Given the description of an element on the screen output the (x, y) to click on. 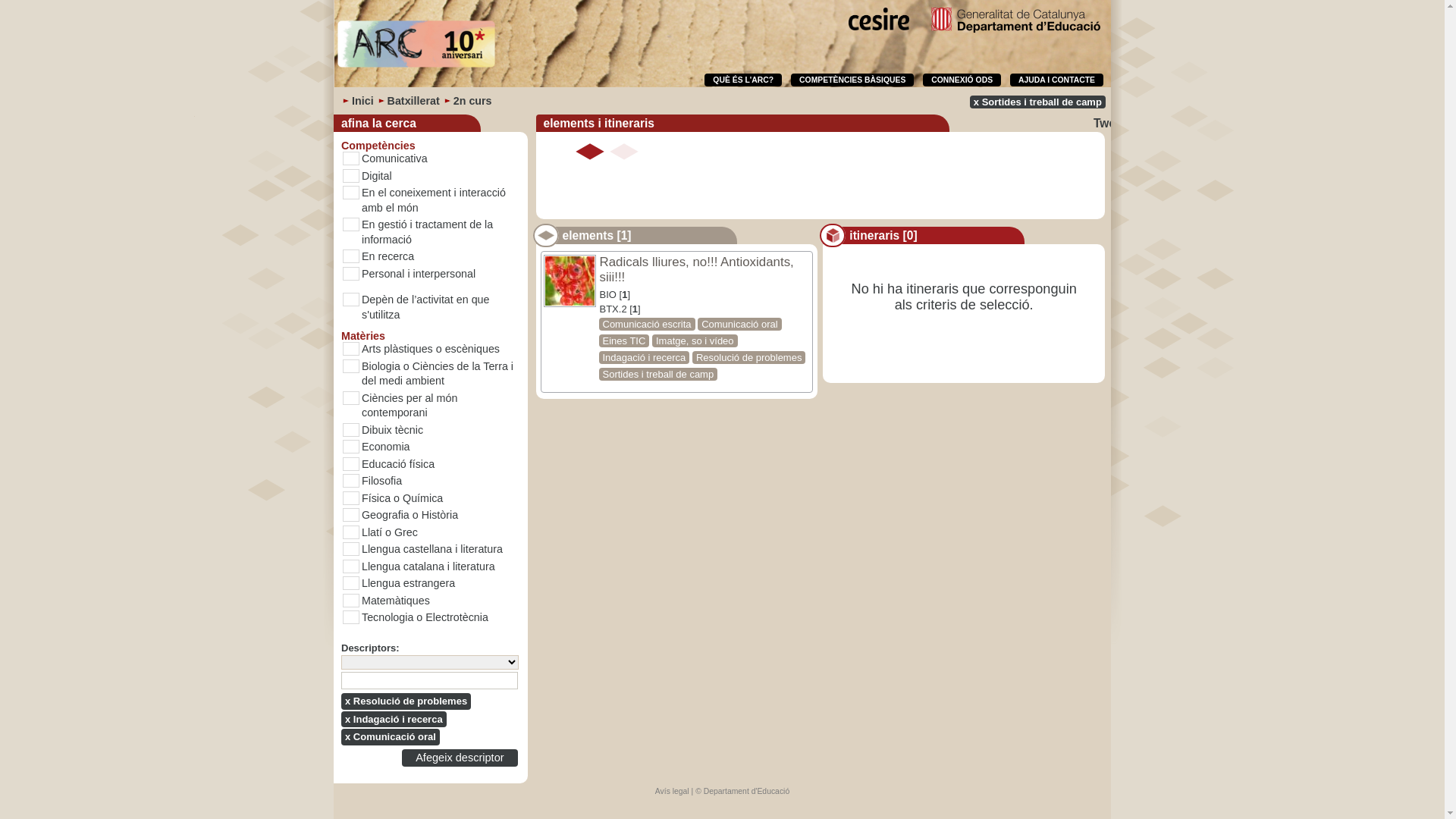
Inici Element type: text (362, 100)
Radicals lliures, no!!! Antioxidants, siii!!! Element type: text (696, 269)
Batxillerat Element type: text (413, 100)
Eines TIC Element type: text (623, 340)
Sortides i treball de camp Element type: text (657, 374)
x Element type: text (976, 100)
Afegeix descriptor Element type: text (459, 758)
2n curs Element type: text (472, 100)
Tweet Element type: text (1109, 122)
x Element type: text (347, 719)
x Element type: text (347, 701)
Afina Element type: text (16, 7)
x Element type: text (347, 736)
AJUDA I CONTACTE Element type: text (1056, 79)
Radicals lliures, no!!! Antioxidants, siii!!! Element type: hover (589, 151)
